Given the description of an element on the screen output the (x, y) to click on. 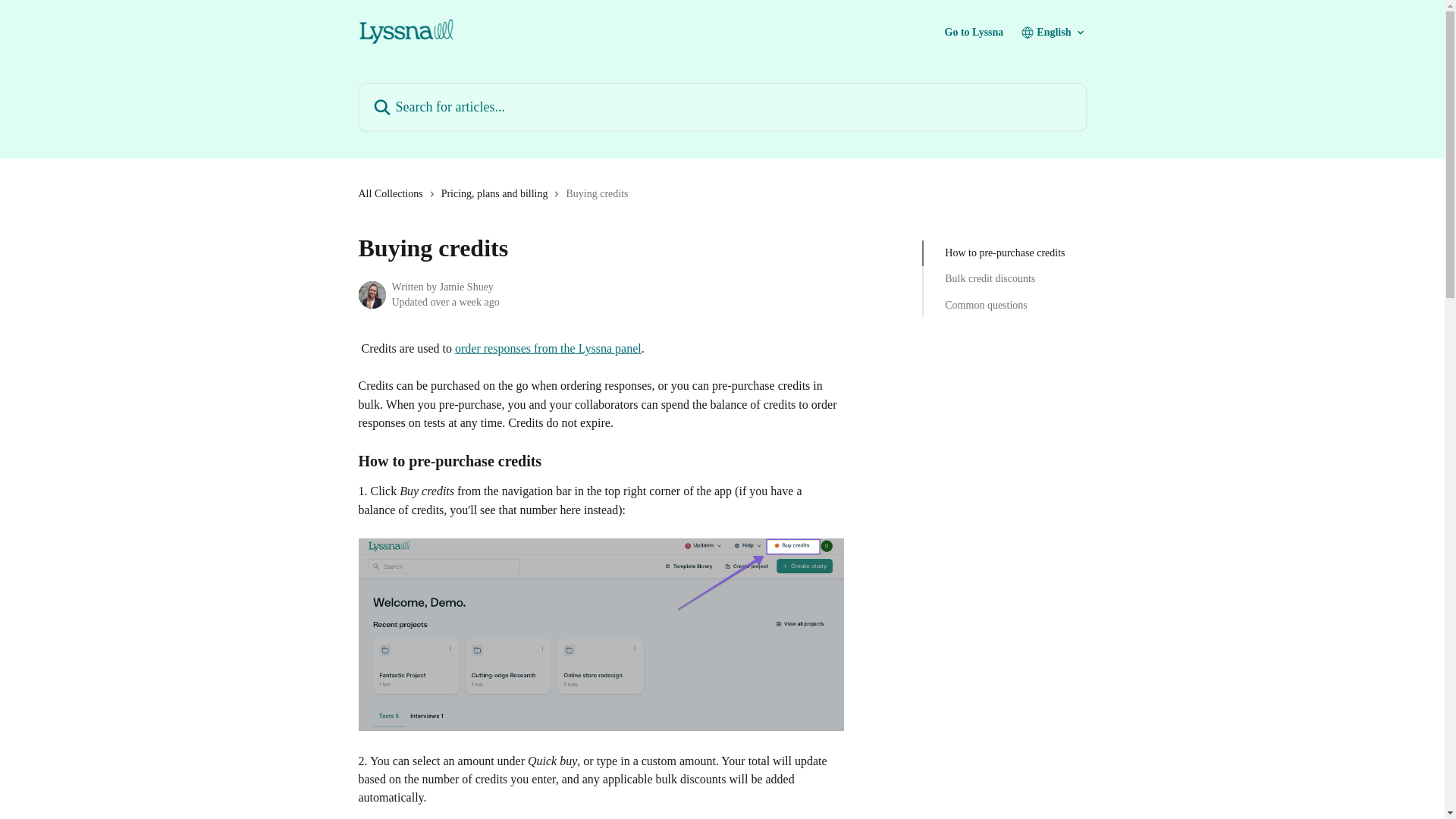
Go to Lyssna (974, 32)
Common questions (1004, 305)
All Collections (393, 193)
order responses from the Lyssna panel (548, 348)
How to pre-purchase credits (1004, 252)
Pricing, plans and billing (497, 193)
Bulk credit discounts (1004, 279)
